Given the description of an element on the screen output the (x, y) to click on. 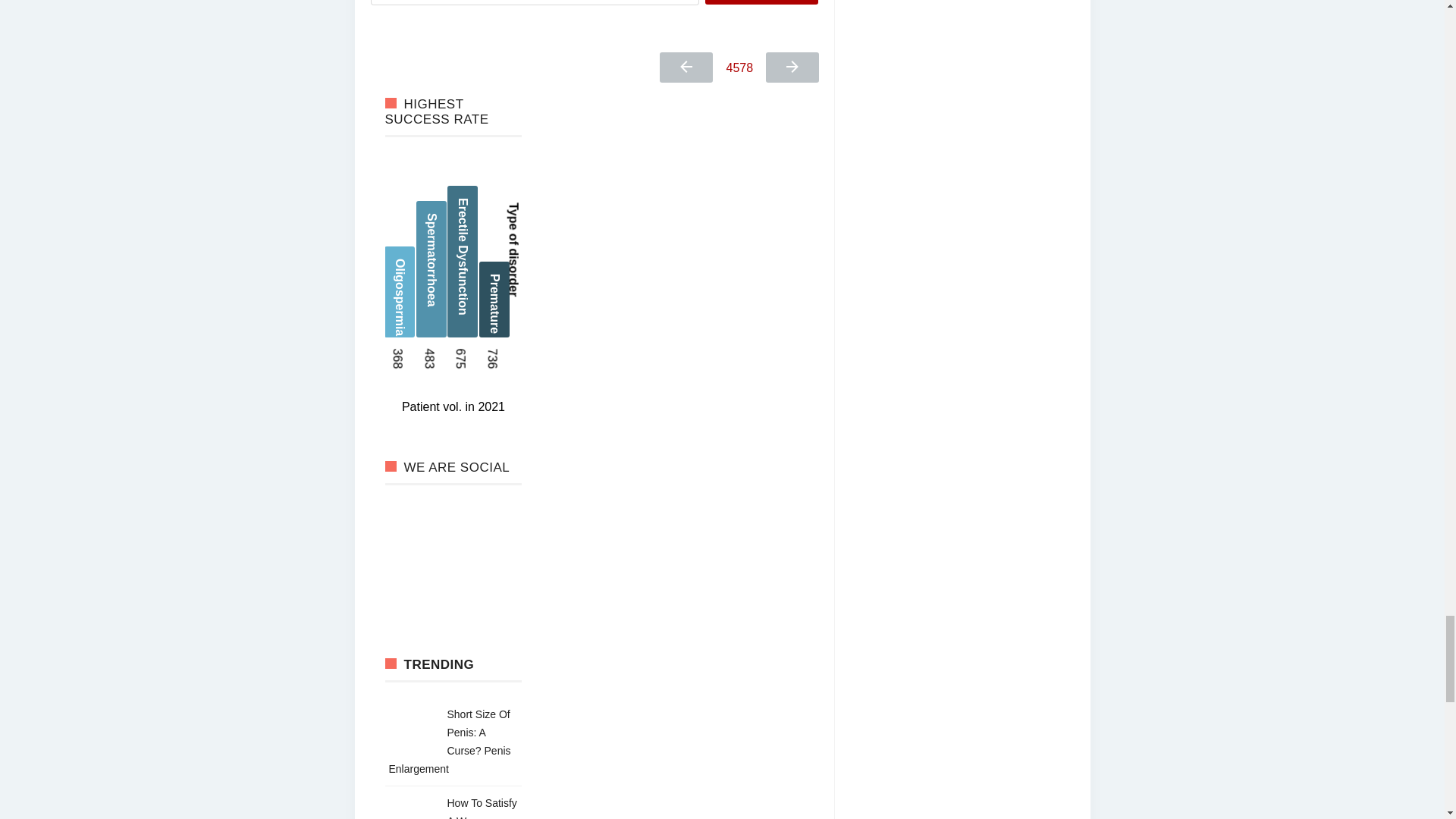
Subscribe! (760, 2)
How To Satisfy A Woman Physically? (481, 807)
Short Size Of Penis: A Curse? Penis Enlargement (449, 741)
Subscribe! (760, 2)
4578 (740, 67)
